Given the description of an element on the screen output the (x, y) to click on. 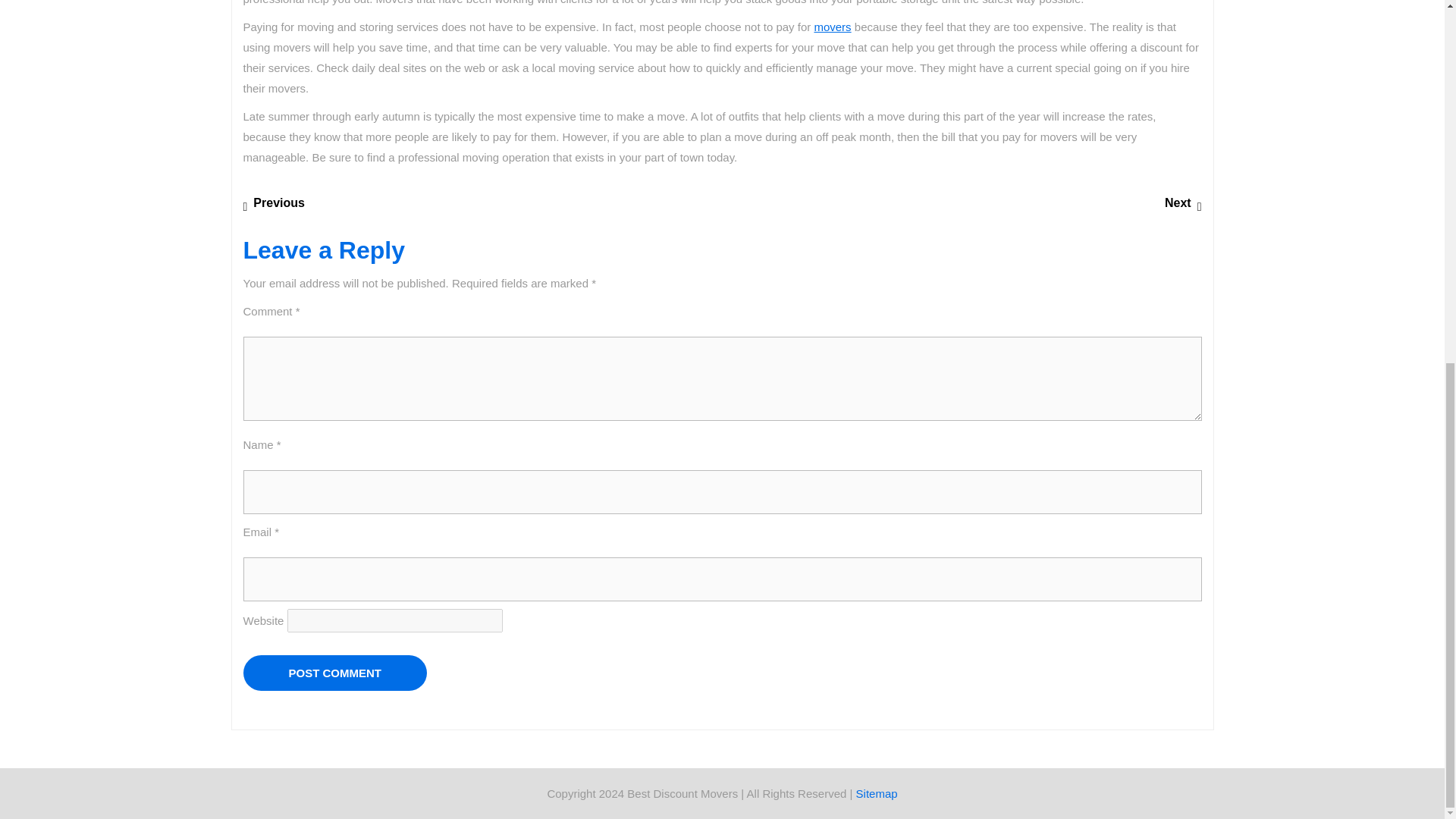
movers (831, 26)
Post Comment (1183, 202)
Untitled (334, 673)
Sitemap (831, 26)
Post Comment (877, 793)
